Given the description of an element on the screen output the (x, y) to click on. 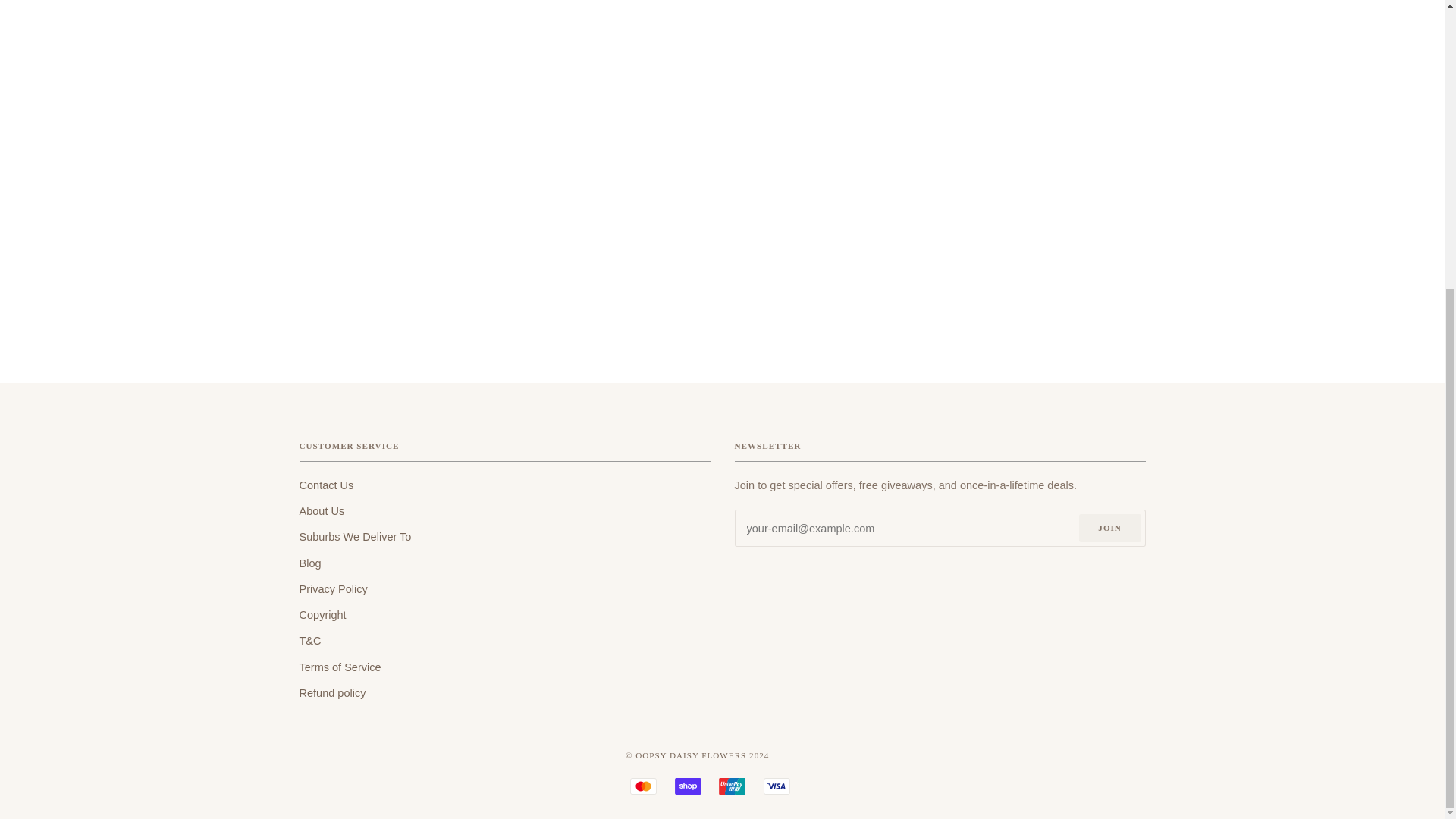
SHOP PAY (688, 786)
UNION PAY (732, 786)
VISA (776, 786)
MASTERCARD (643, 786)
